Given the description of an element on the screen output the (x, y) to click on. 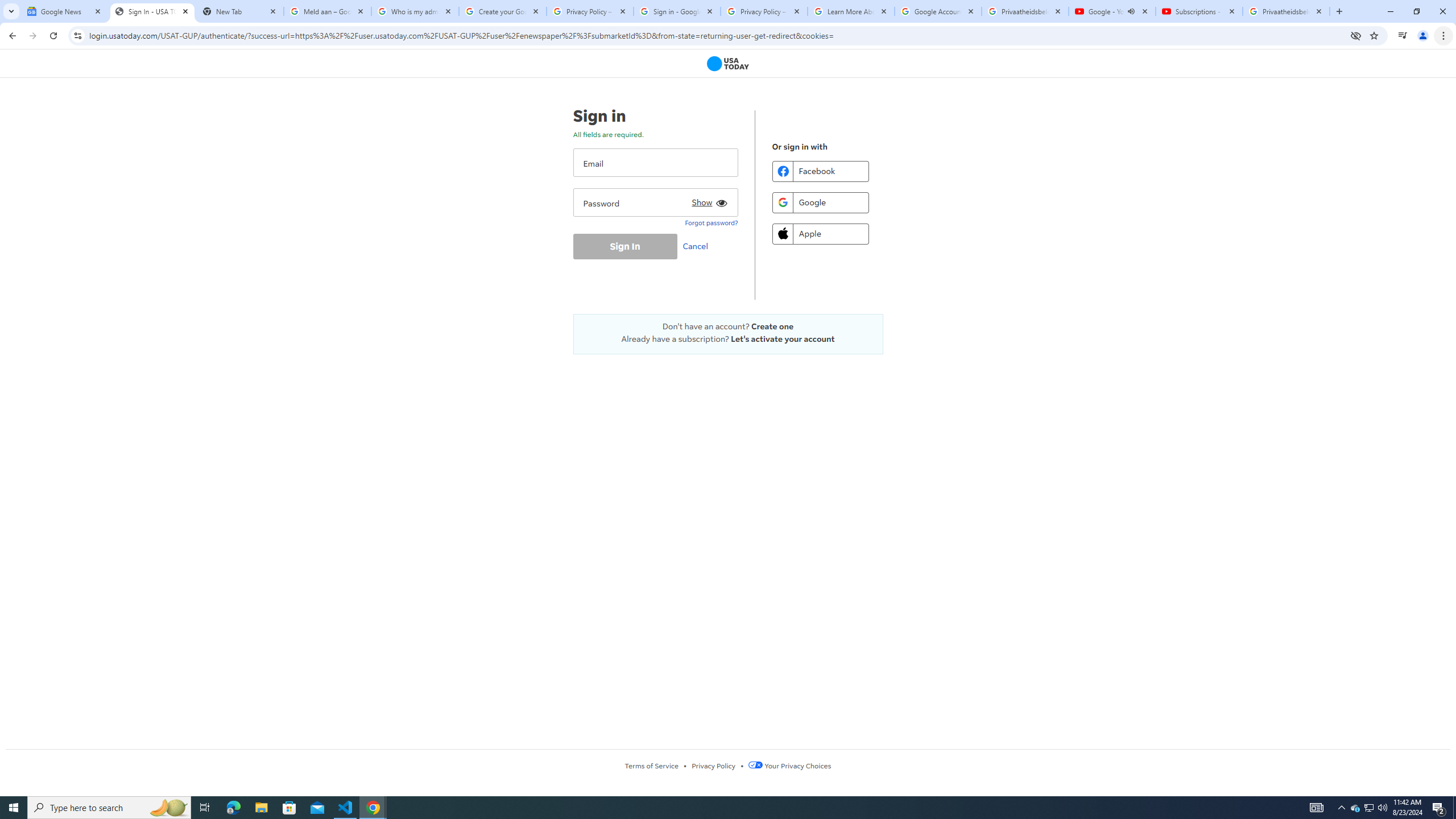
Sign in - Google Accounts (676, 11)
Google - YouTube - Audio playing (1111, 11)
Mute tab (1130, 10)
 Your Privacy Choices (789, 765)
Don't have an account? Create one (727, 326)
Forgot password? (711, 221)
Sign In (624, 246)
Enter Password (655, 202)
Create your Google Account (502, 11)
